Given the description of an element on the screen output the (x, y) to click on. 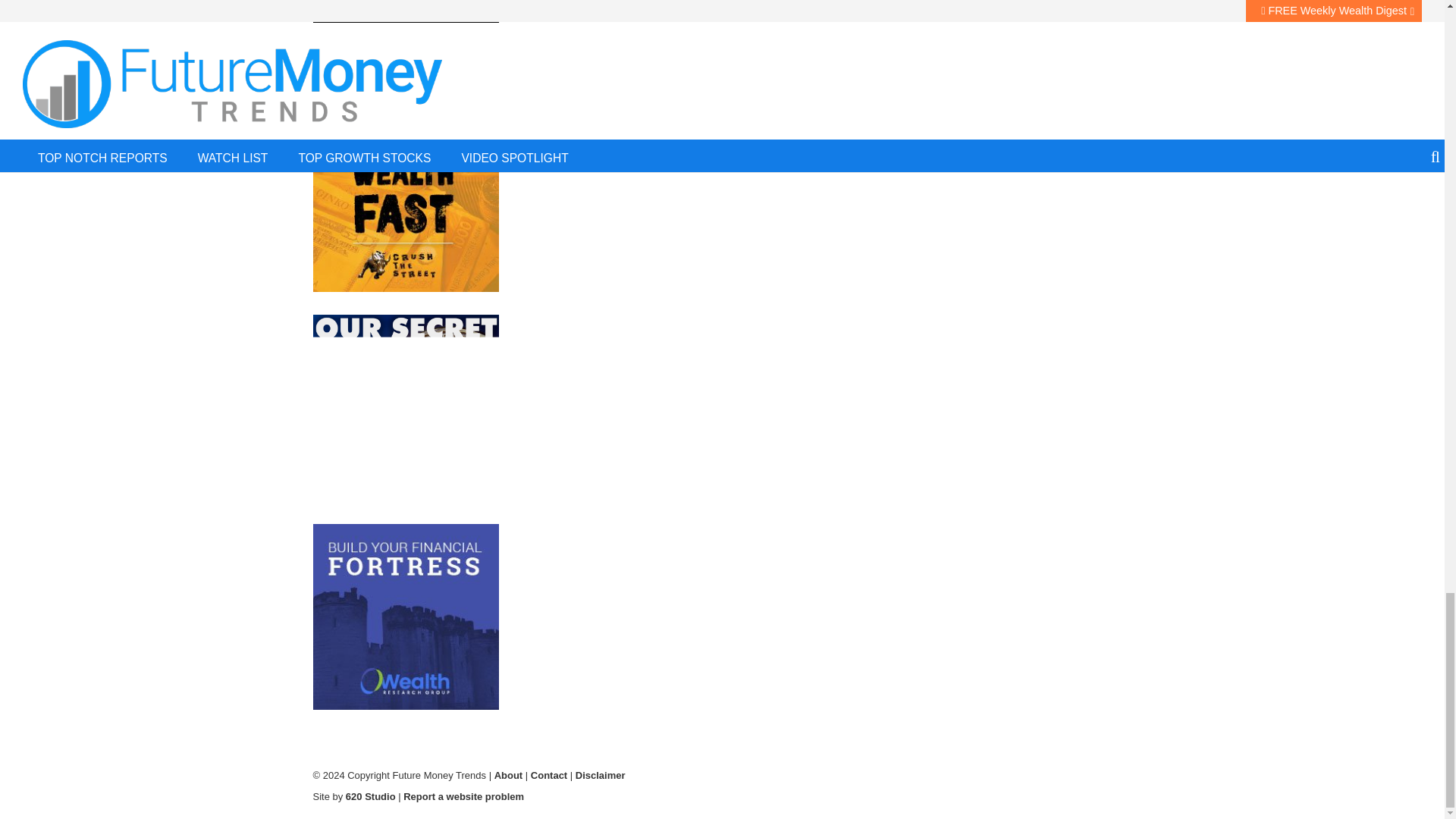
Report a website problem (463, 796)
Contact (549, 775)
About (508, 775)
620 Studio (371, 796)
Disclaimer (600, 775)
